Given the description of an element on the screen output the (x, y) to click on. 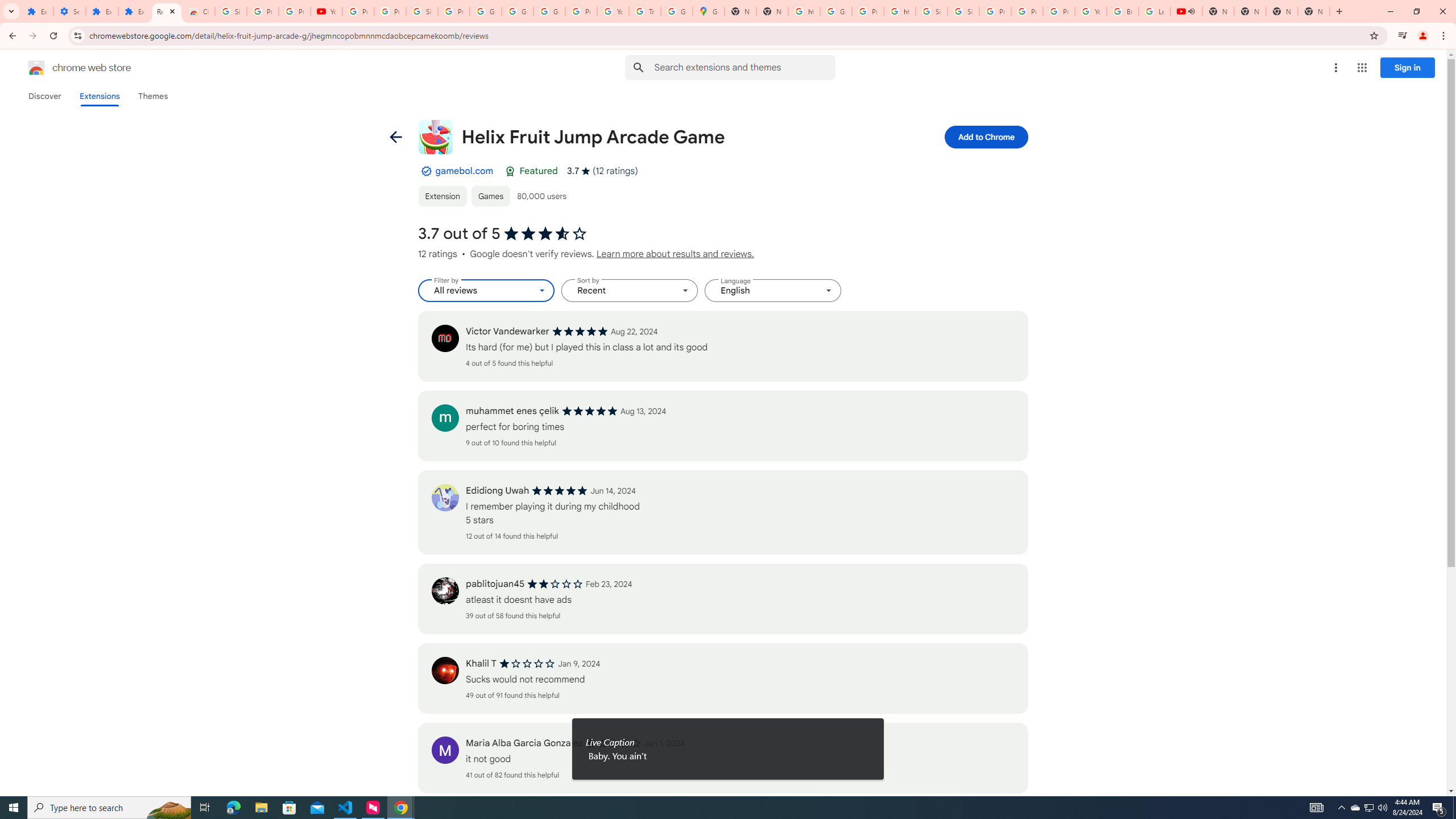
gamebol.com (464, 170)
YouTube (326, 11)
Add to Chrome (985, 136)
Item logo image for Helix Fruit Jump Arcade Game (434, 136)
3.7 out of 5 stars (545, 233)
Chrome Web Store logo chrome web store (67, 67)
Privacy Help Center - Policies Help (1027, 11)
Chrome Web Store logo (36, 67)
https://scholar.google.com/ (804, 11)
